Given the description of an element on the screen output the (x, y) to click on. 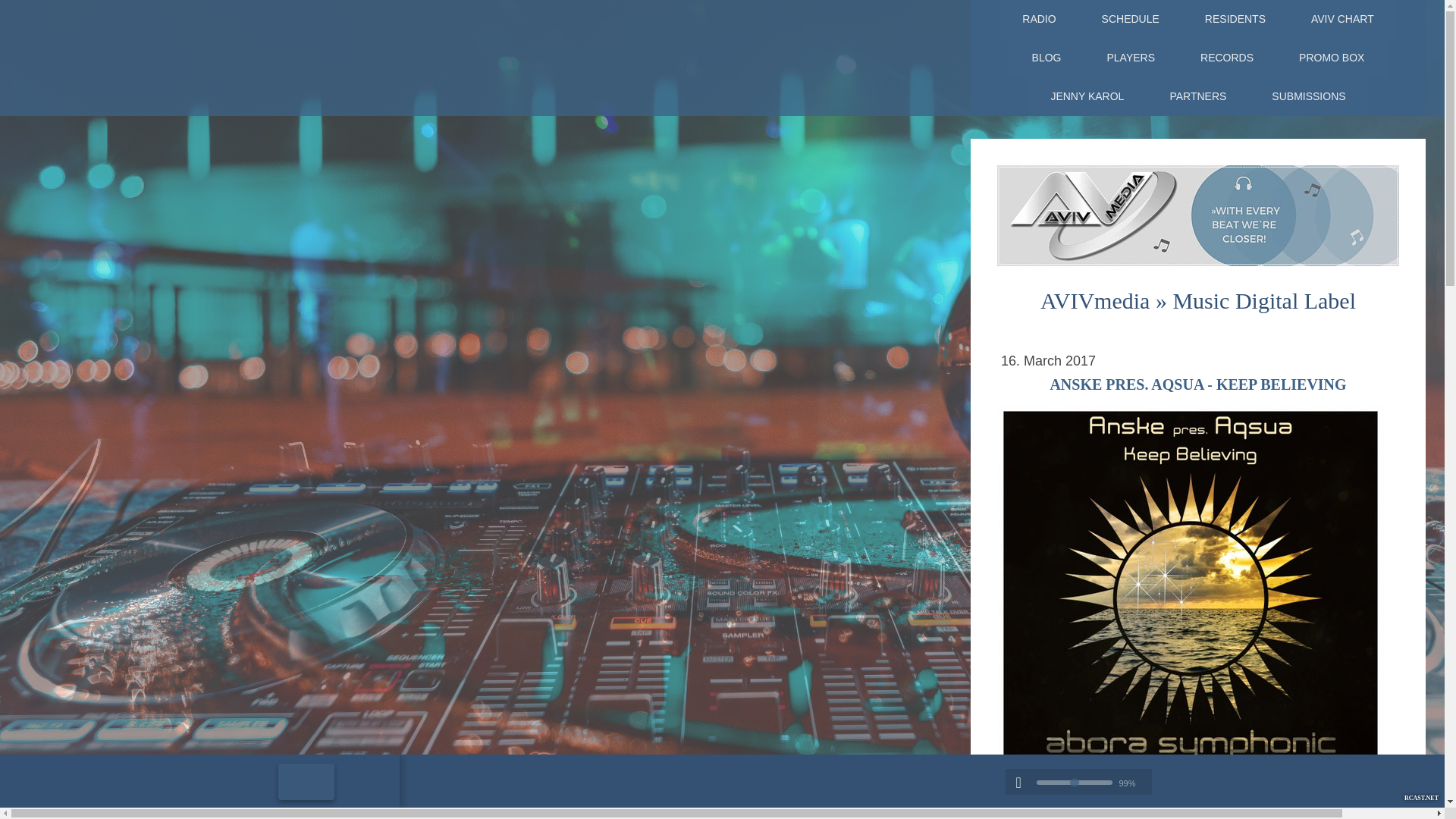
PROMO BOX (1331, 57)
PLAYERS (1130, 57)
PARTNERS (1198, 96)
JENNY KAROL (1087, 96)
BLOG (1046, 57)
RADIO (1038, 19)
SCHEDULE (1130, 19)
AVIV CHART (1342, 19)
SUBMISSIONS (1308, 96)
RESIDENTS (1235, 19)
RECORDS (1226, 57)
